Given the description of an element on the screen output the (x, y) to click on. 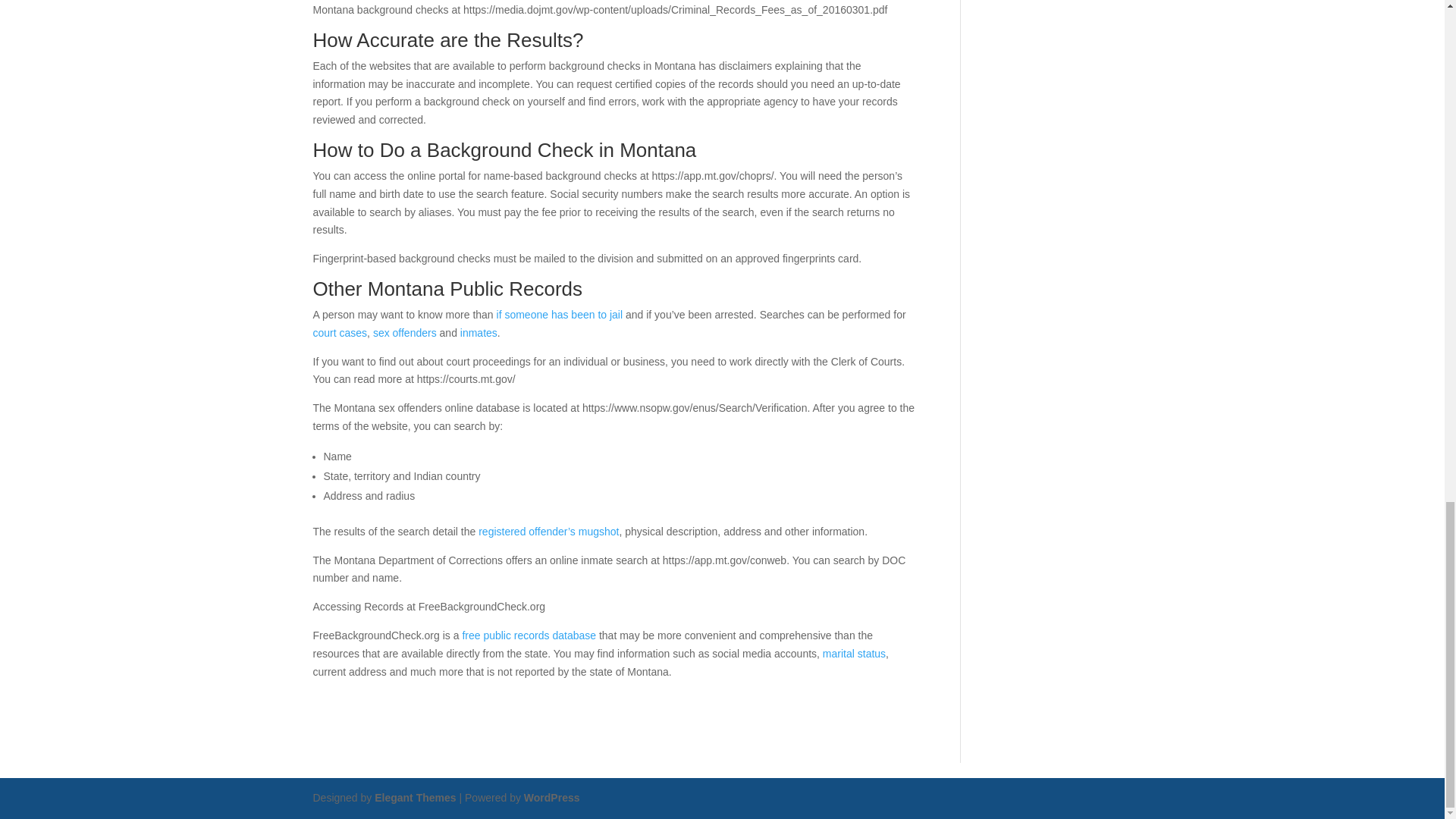
free public records database (528, 635)
if someone has been to jail (559, 314)
Premium WordPress Themes (414, 797)
sex offenders (404, 332)
marital status (853, 653)
inmates (478, 332)
court cases (339, 332)
